Given the description of an element on the screen output the (x, y) to click on. 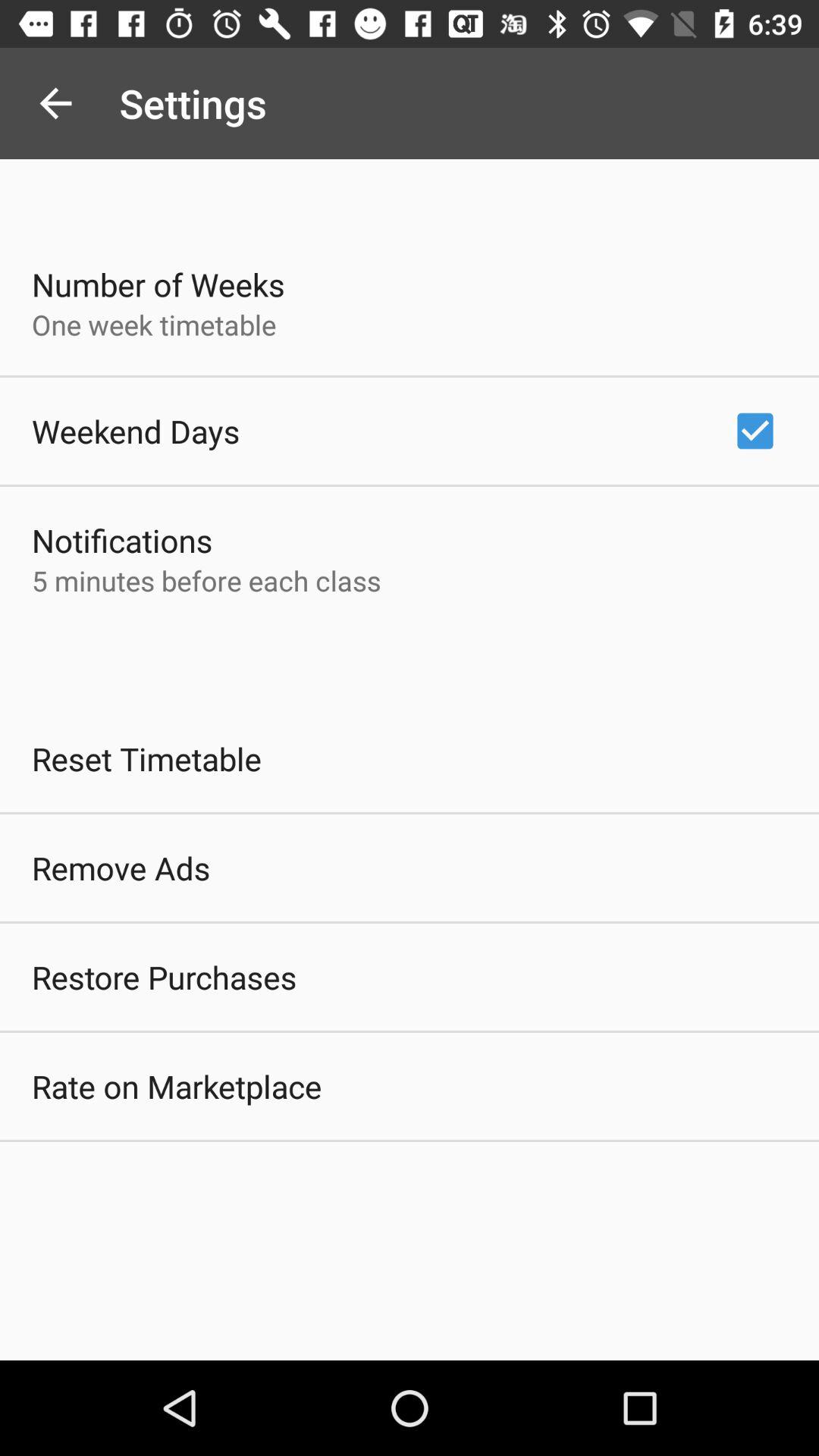
turn on the remove ads app (120, 867)
